Given the description of an element on the screen output the (x, y) to click on. 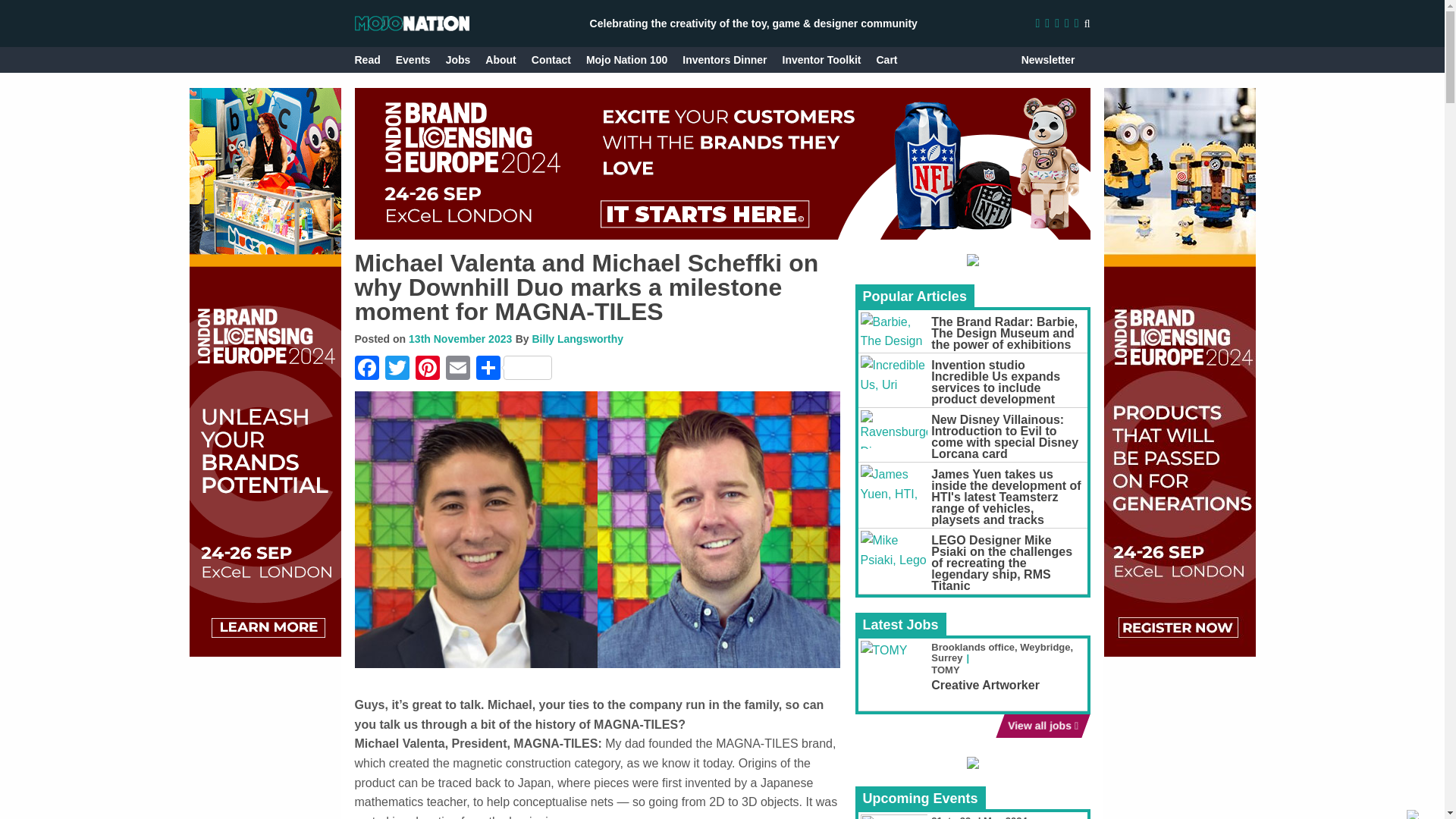
Mojo Nation 100 (626, 59)
Twitter (396, 369)
Pinterest (427, 369)
Mojo Nation (411, 22)
Pinterest (427, 369)
Email (457, 369)
About (499, 59)
Inventors Dinner (724, 59)
Newsletter (1048, 59)
Contact (550, 59)
Go (1072, 59)
Facebook (368, 369)
Twitter (396, 369)
Read (367, 59)
Inventor Toolkit (822, 59)
